Given the description of an element on the screen output the (x, y) to click on. 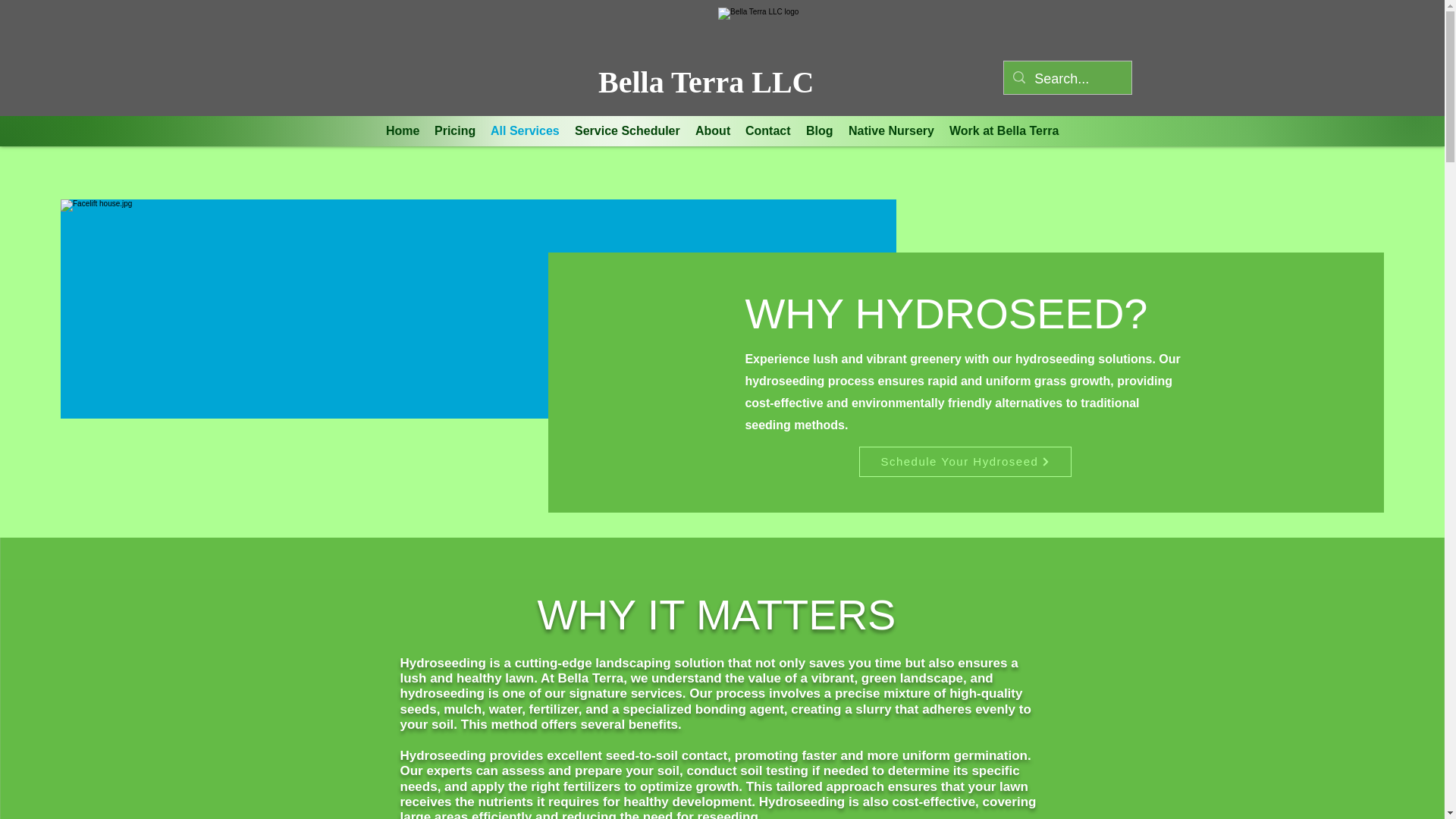
Native Nursery (891, 130)
Contact (767, 130)
Blog (819, 130)
Pricing (454, 130)
Schedule Your Hydroseed (965, 461)
Home (402, 130)
About (712, 130)
All Services (525, 130)
Service Scheduler (627, 130)
Work at Bella Terra (1003, 130)
